Given the description of an element on the screen output the (x, y) to click on. 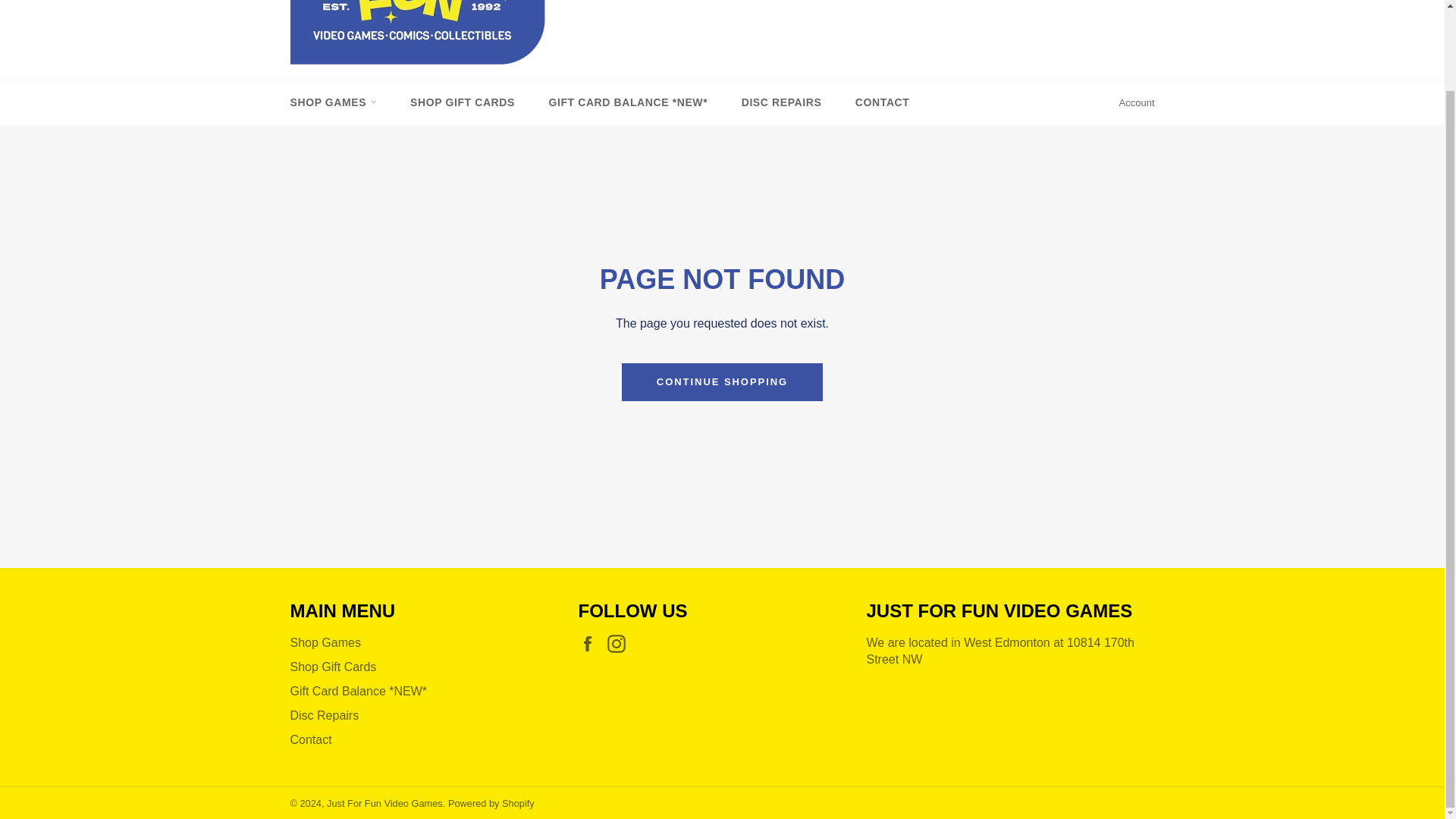
Cart (1138, 5)
SHOP GIFT CARDS (461, 102)
Account (1136, 103)
Just For Fun Video Games on Instagram (620, 643)
CONTINUE SHOPPING (721, 382)
DISC REPAIRS (781, 102)
SHOP GAMES (333, 102)
CONTACT (882, 102)
Shop Games (324, 642)
Search (1104, 4)
